Given the description of an element on the screen output the (x, y) to click on. 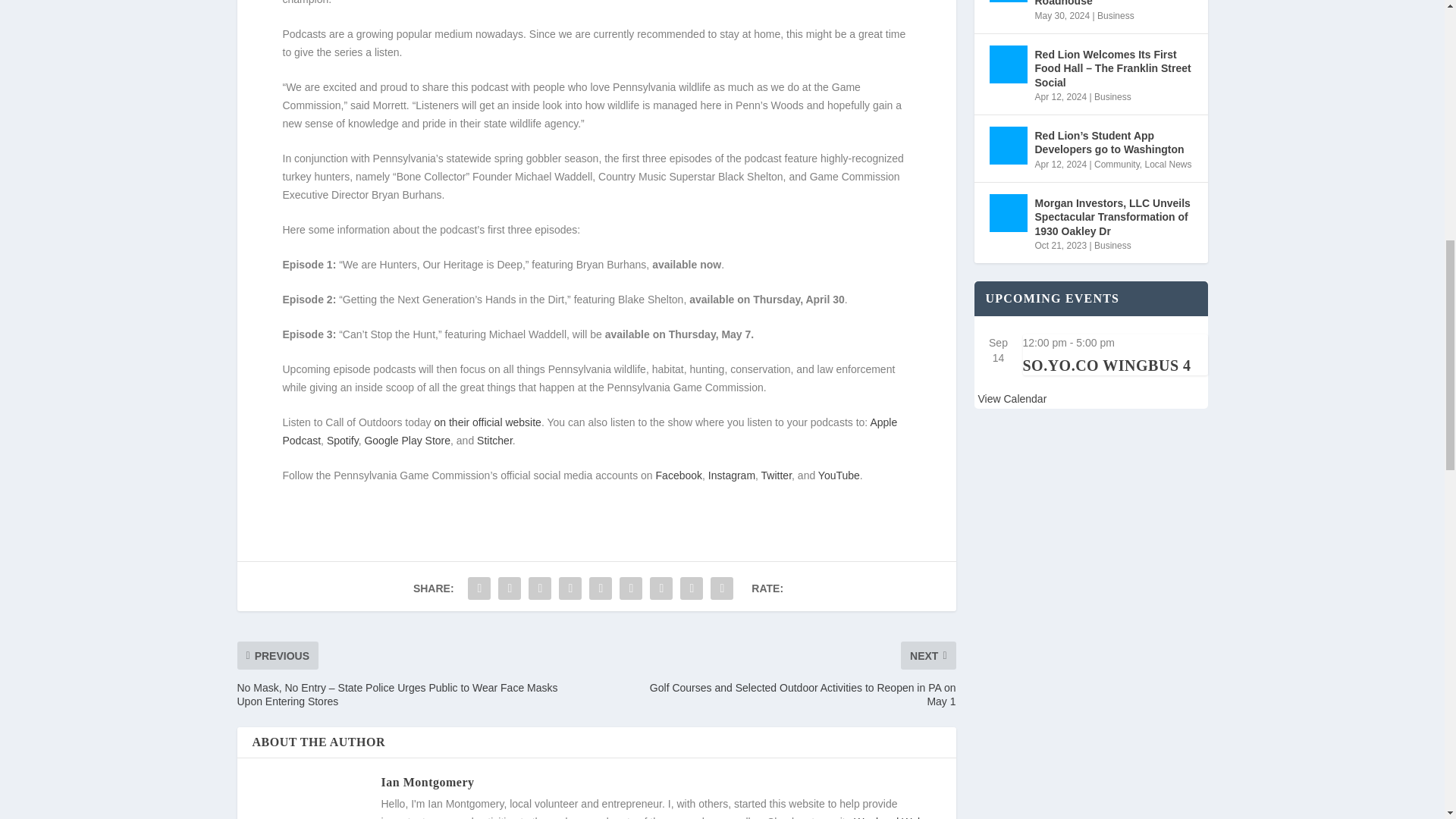
Twitter (776, 475)
YouTube (839, 475)
Instagram (731, 475)
Ian Montgomery (427, 781)
Google Play Store (406, 440)
Apple Podcast (589, 431)
Weekend Web (888, 817)
on their official website (486, 422)
Spotify (342, 440)
Stitcher (494, 440)
